Given the description of an element on the screen output the (x, y) to click on. 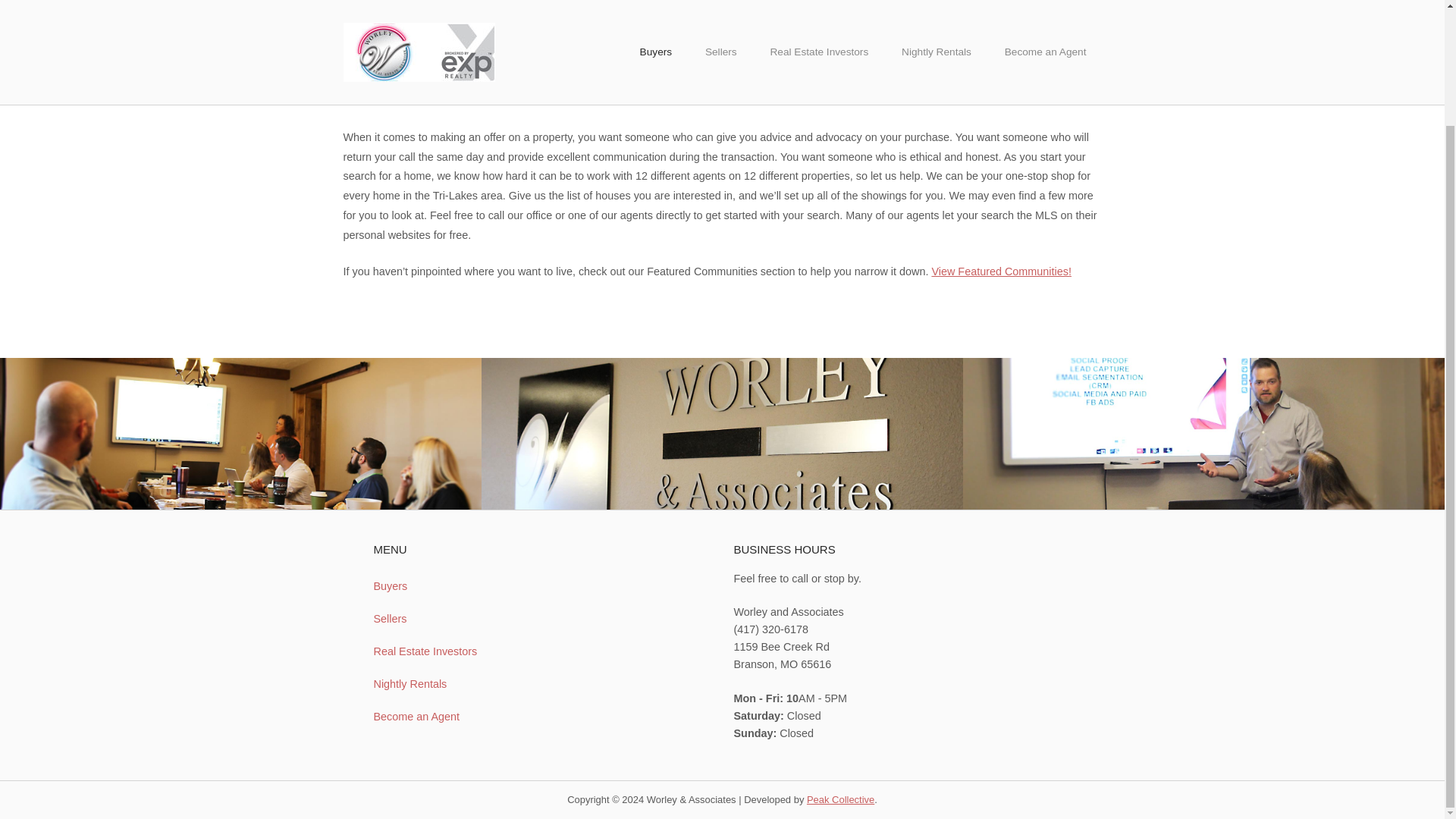
View Featured Communities! (1001, 271)
Sellers (451, 618)
Nightly Rentals (451, 684)
Buyers (451, 586)
Real Estate Investors (451, 651)
Become an Agent (451, 717)
Peak Collective (840, 799)
